Given the description of an element on the screen output the (x, y) to click on. 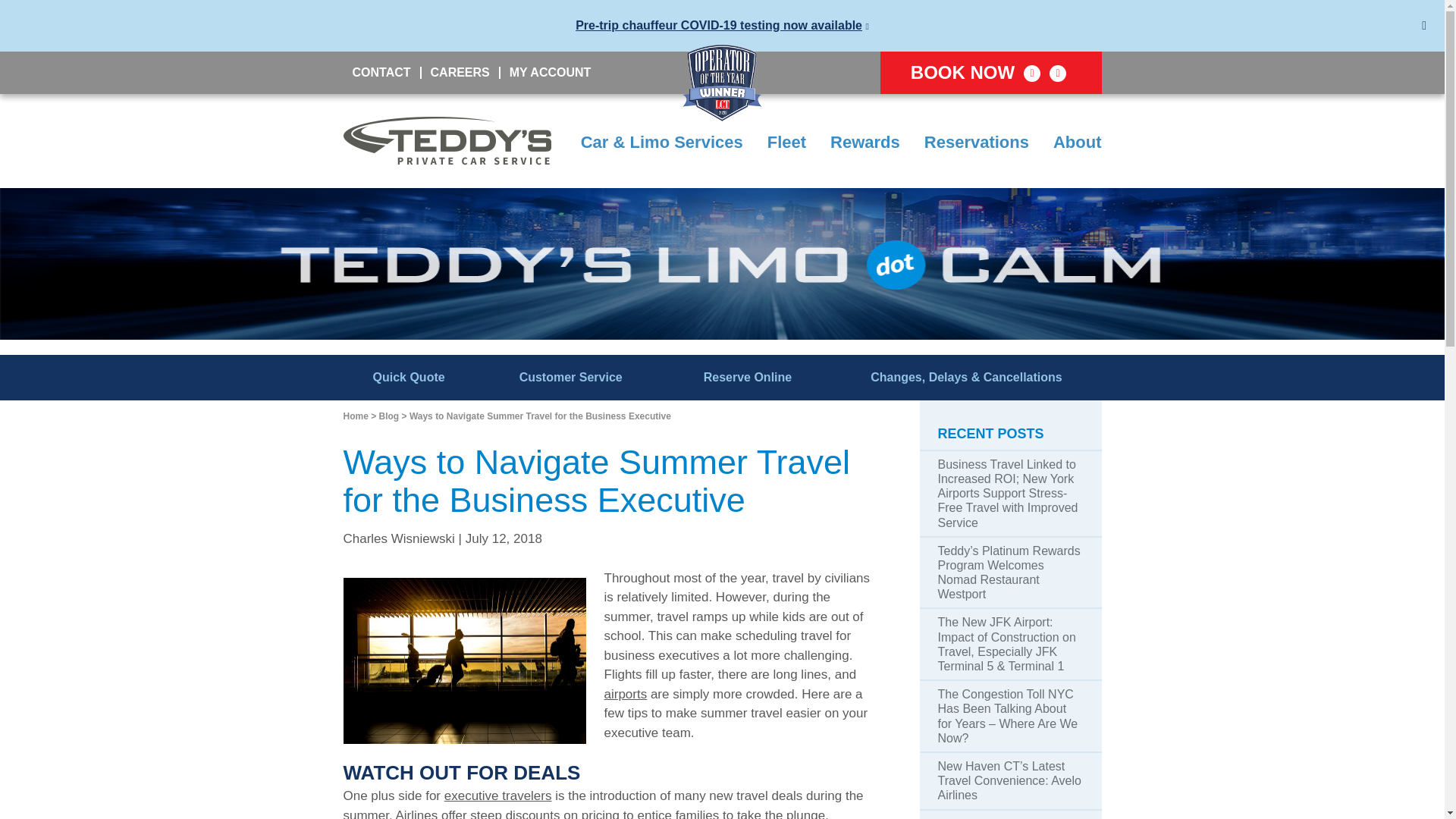
About (1077, 142)
Fleet (786, 142)
Pre-trip chauffeur COVID-19 testing now available (718, 24)
Click to Open (989, 72)
MY ACCOUNT (549, 72)
Rewards (864, 142)
Teddy's Private Car Service logo (446, 141)
CAREERS (459, 72)
2020 LCT Operator of the Year (721, 81)
CONTACT (380, 72)
